Given the description of an element on the screen output the (x, y) to click on. 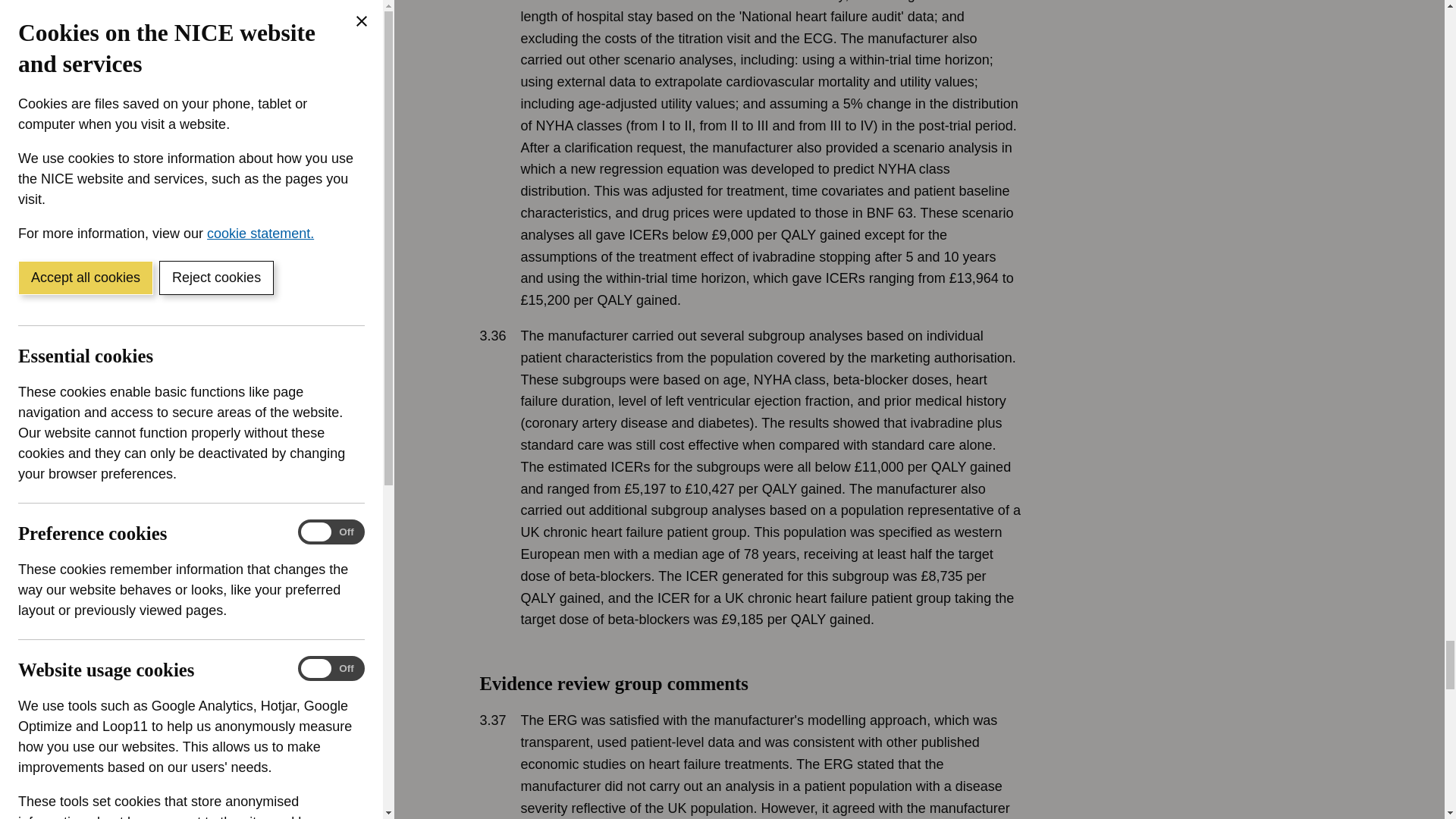
Evidence review group comments (850, 745)
